Given the description of an element on the screen output the (x, y) to click on. 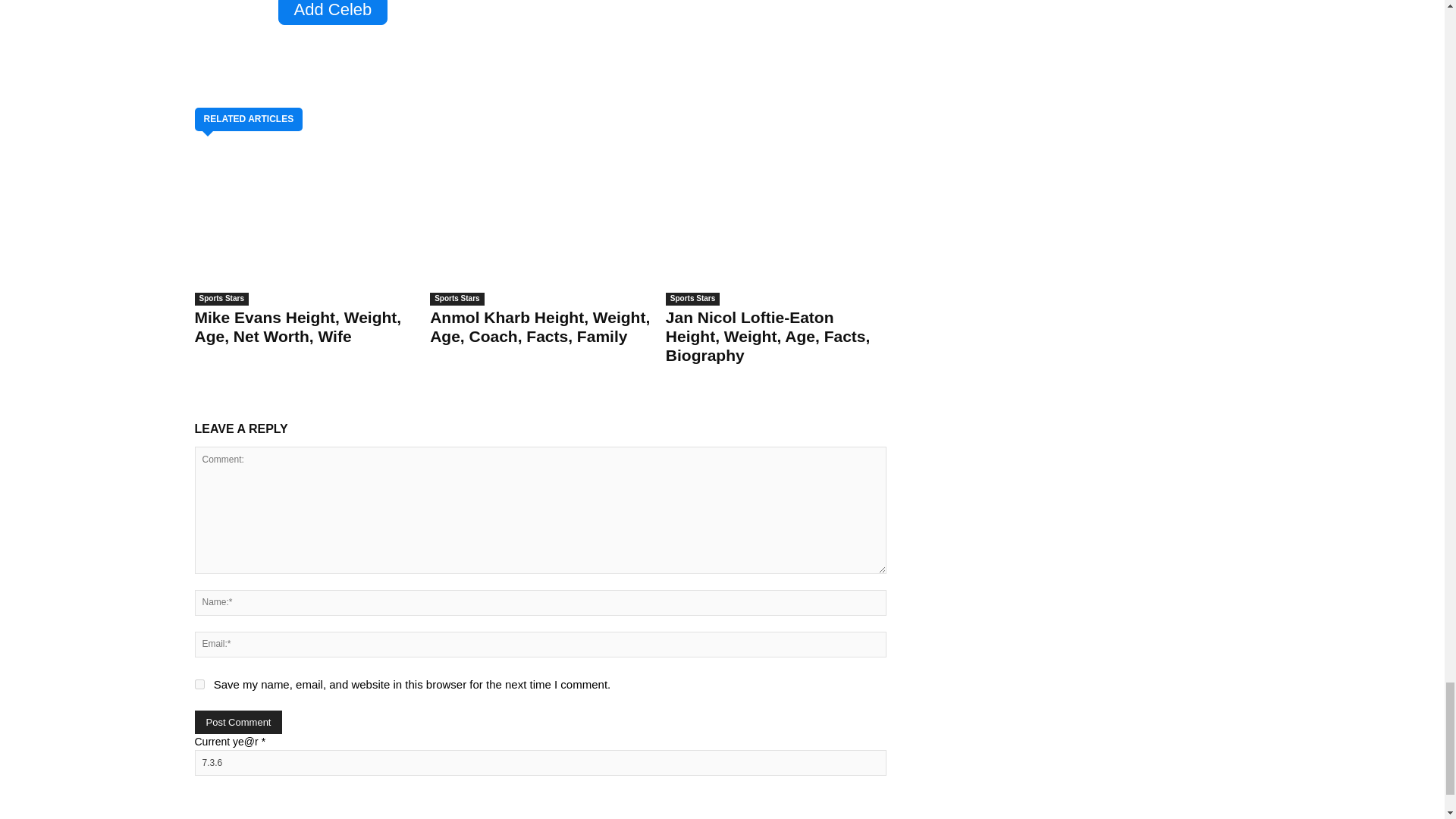
7.3.6 (539, 762)
Post Comment (237, 721)
yes (198, 684)
Add Celeb (332, 12)
